Given the description of an element on the screen output the (x, y) to click on. 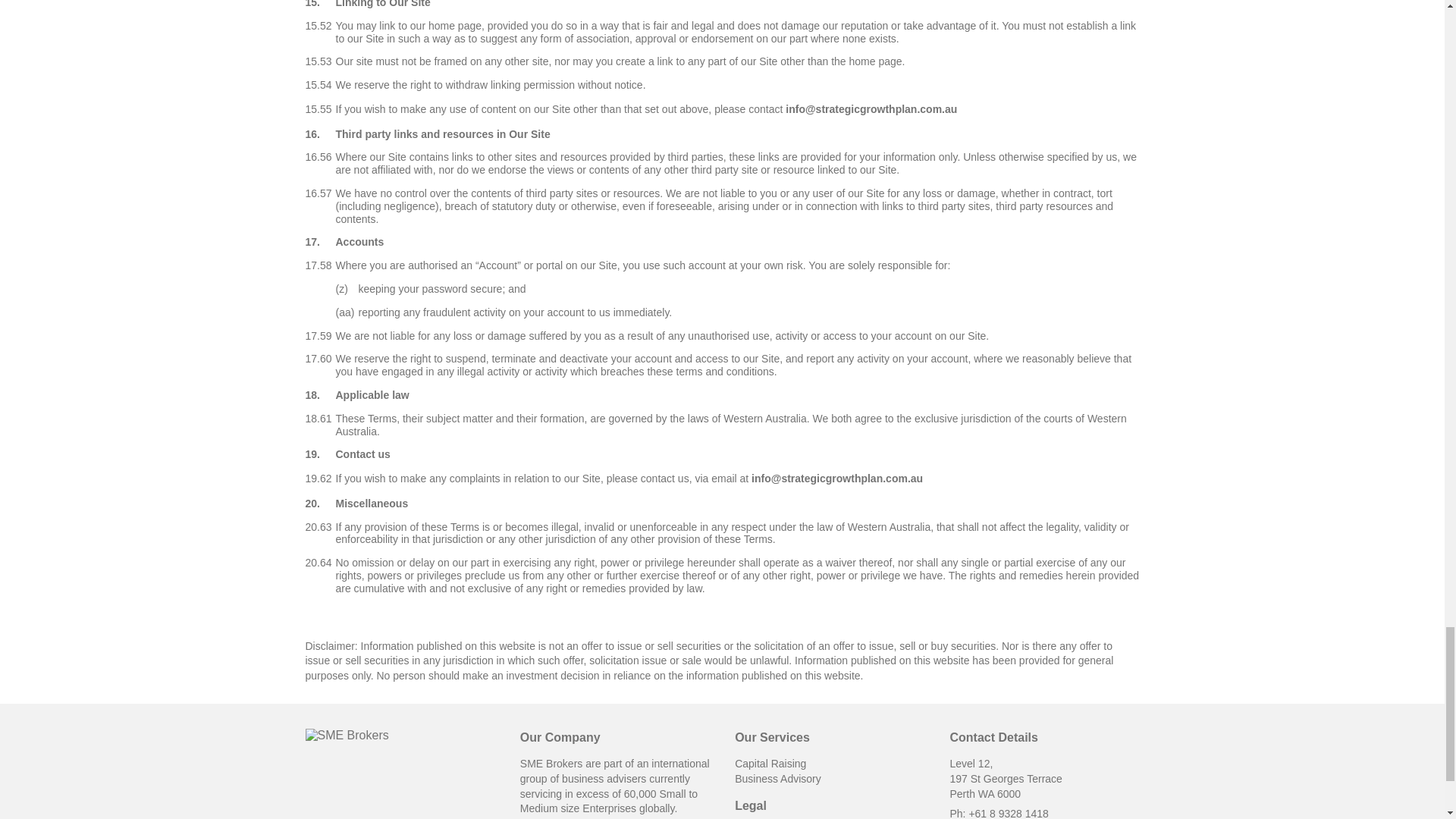
Business Advisory (778, 778)
Capital Raising (770, 763)
SME Brokers (346, 735)
